Given the description of an element on the screen output the (x, y) to click on. 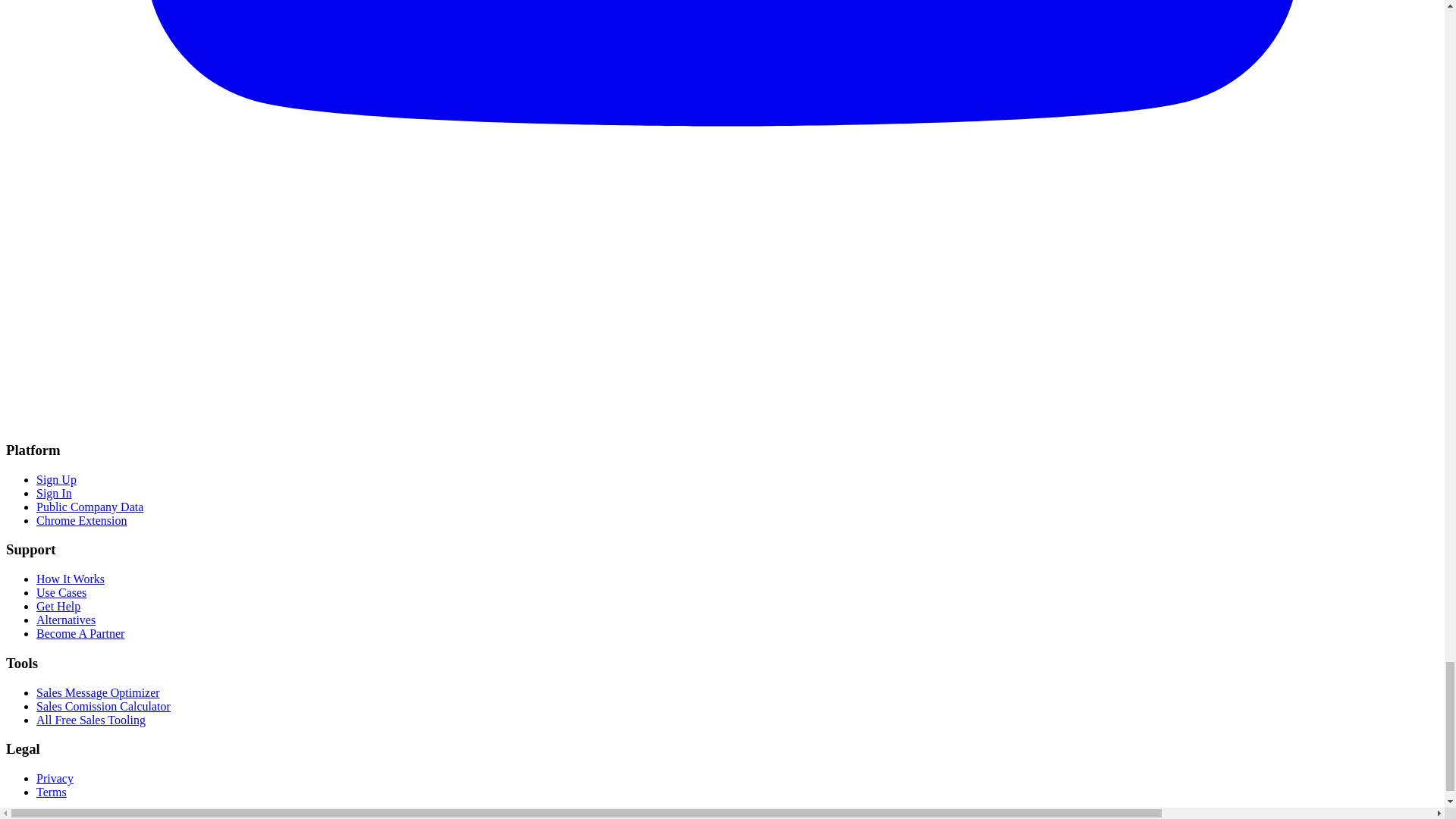
Chrome Extension (82, 520)
Sales Comission Calculator (103, 706)
Sales Message Optimizer (98, 692)
How It Works (70, 578)
Privacy (55, 778)
Get Help (58, 605)
Sign Up (56, 479)
Alternatives (66, 619)
Public Company Data (89, 506)
Become A Partner (79, 633)
Use Cases (60, 592)
All Free Sales Tooling (90, 719)
Terms (51, 791)
Sign In (53, 492)
